Given the description of an element on the screen output the (x, y) to click on. 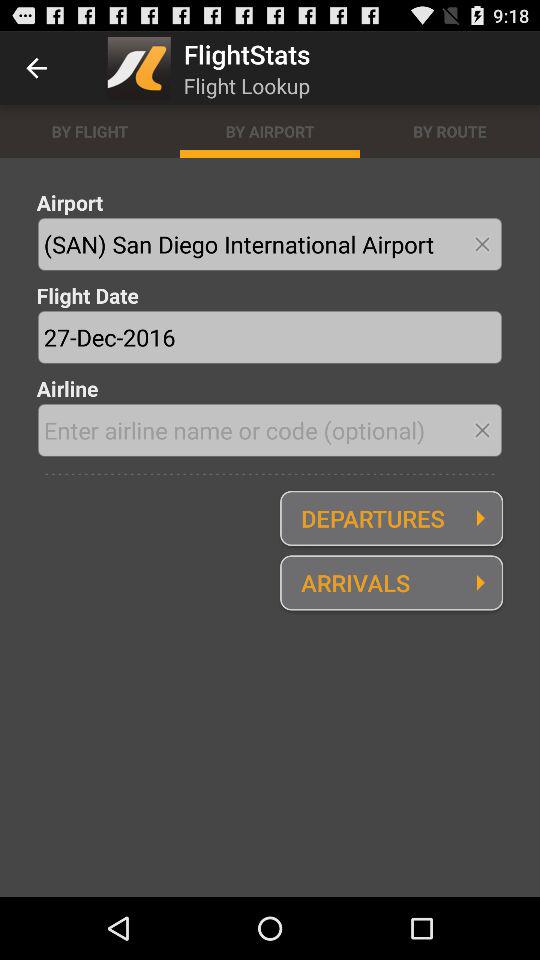
select the airport field (269, 243)
